Given the description of an element on the screen output the (x, y) to click on. 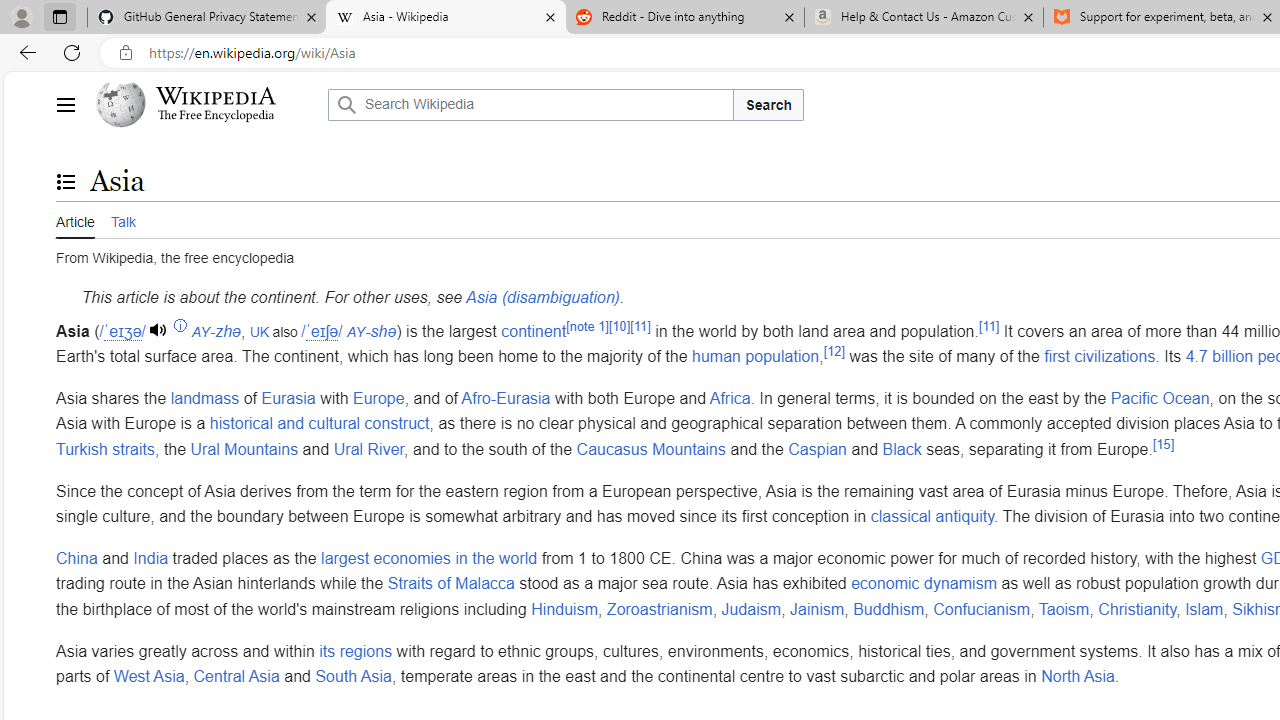
classical antiquity (932, 517)
Central Asia (236, 677)
[15] (1163, 444)
China (77, 557)
human population (756, 356)
Confucianism (981, 608)
North Asia (1077, 677)
